Given the description of an element on the screen output the (x, y) to click on. 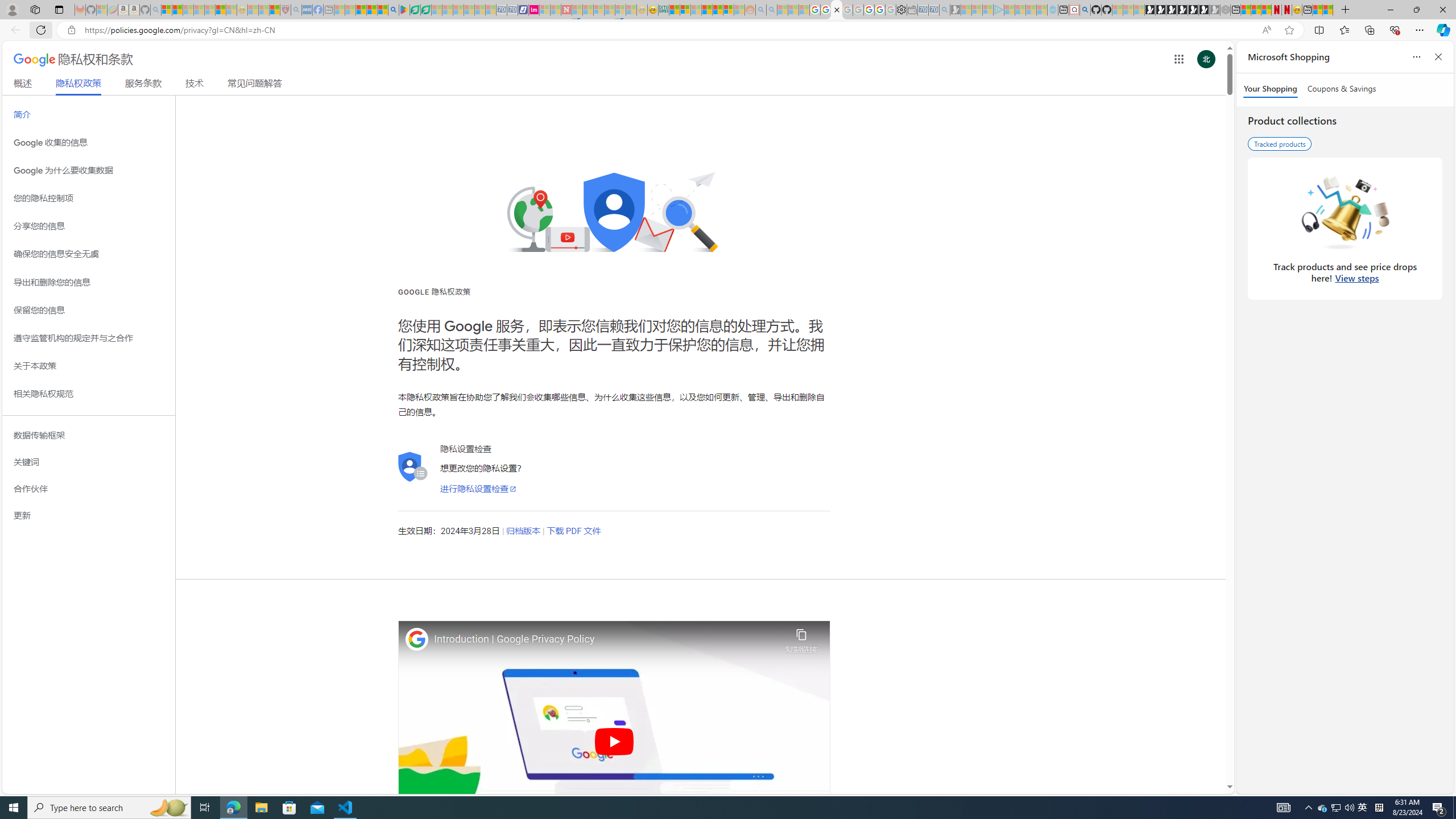
Kinda Frugal - MSN (717, 9)
